Given the description of an element on the screen output the (x, y) to click on. 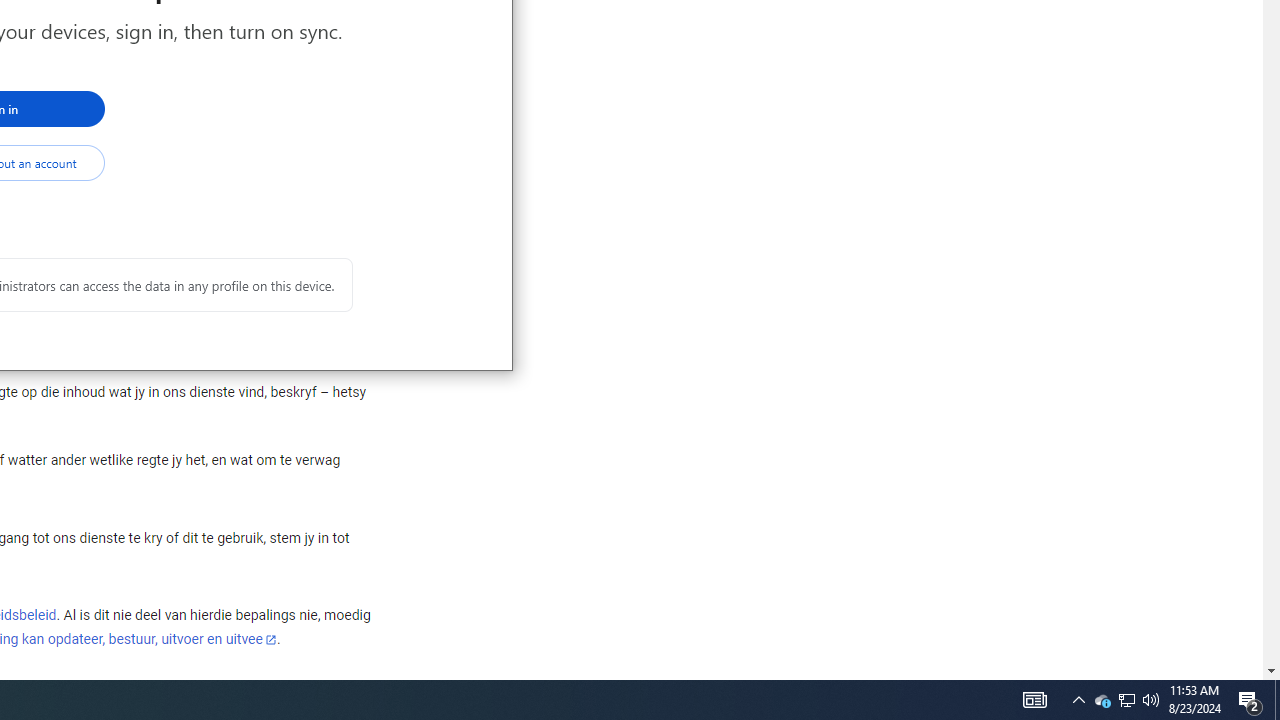
Show desktop (1277, 699)
Q2790: 100% (1151, 699)
AutomationID: 4105 (1034, 699)
Notification Chevron (1078, 699)
User Promoted Notification Area (1126, 699)
Action Center, 2 new notifications (1126, 699)
